Given the description of an element on the screen output the (x, y) to click on. 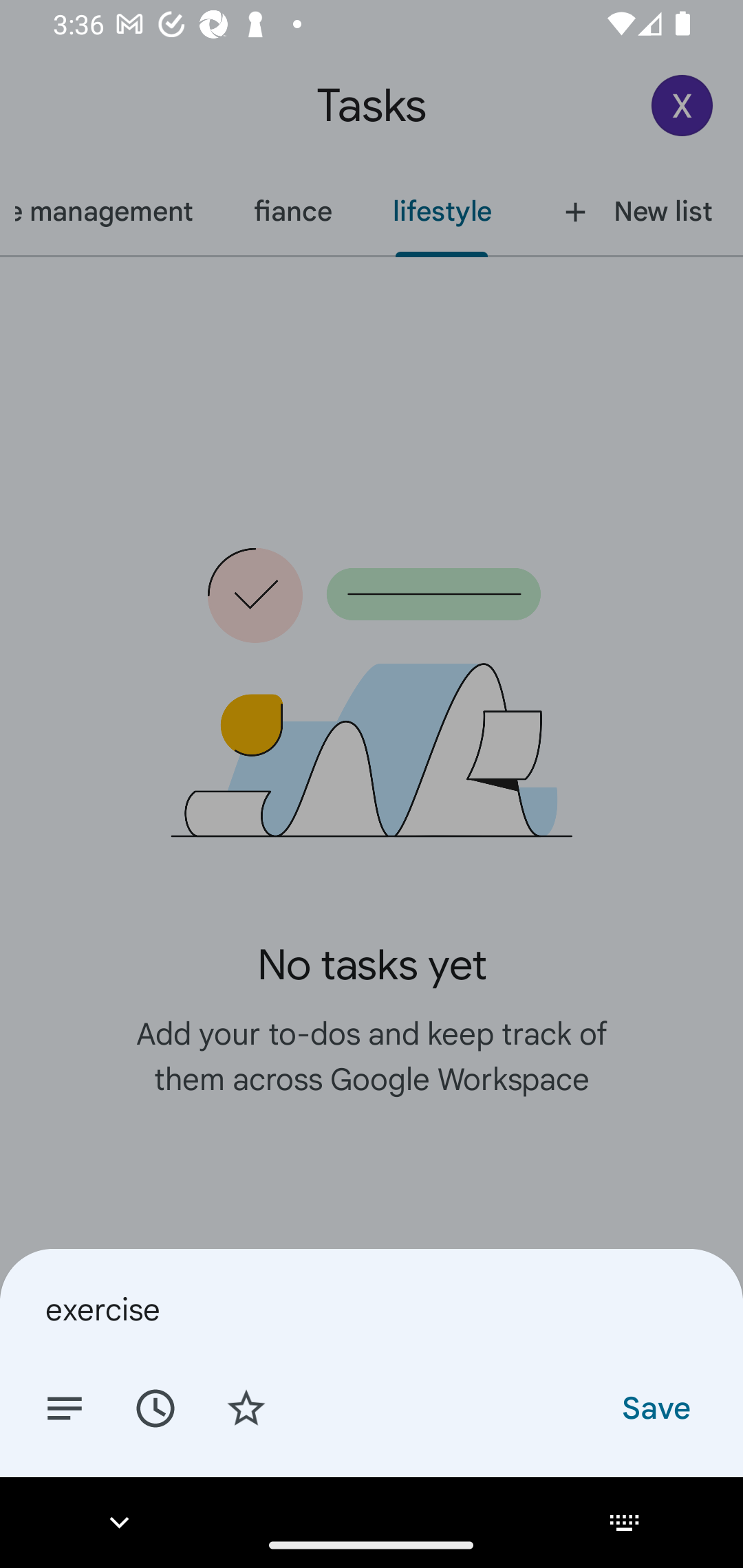
exercise (371, 1308)
Save (655, 1407)
Add details (64, 1407)
Set date/time (154, 1407)
Add star (245, 1407)
